Given the description of an element on the screen output the (x, y) to click on. 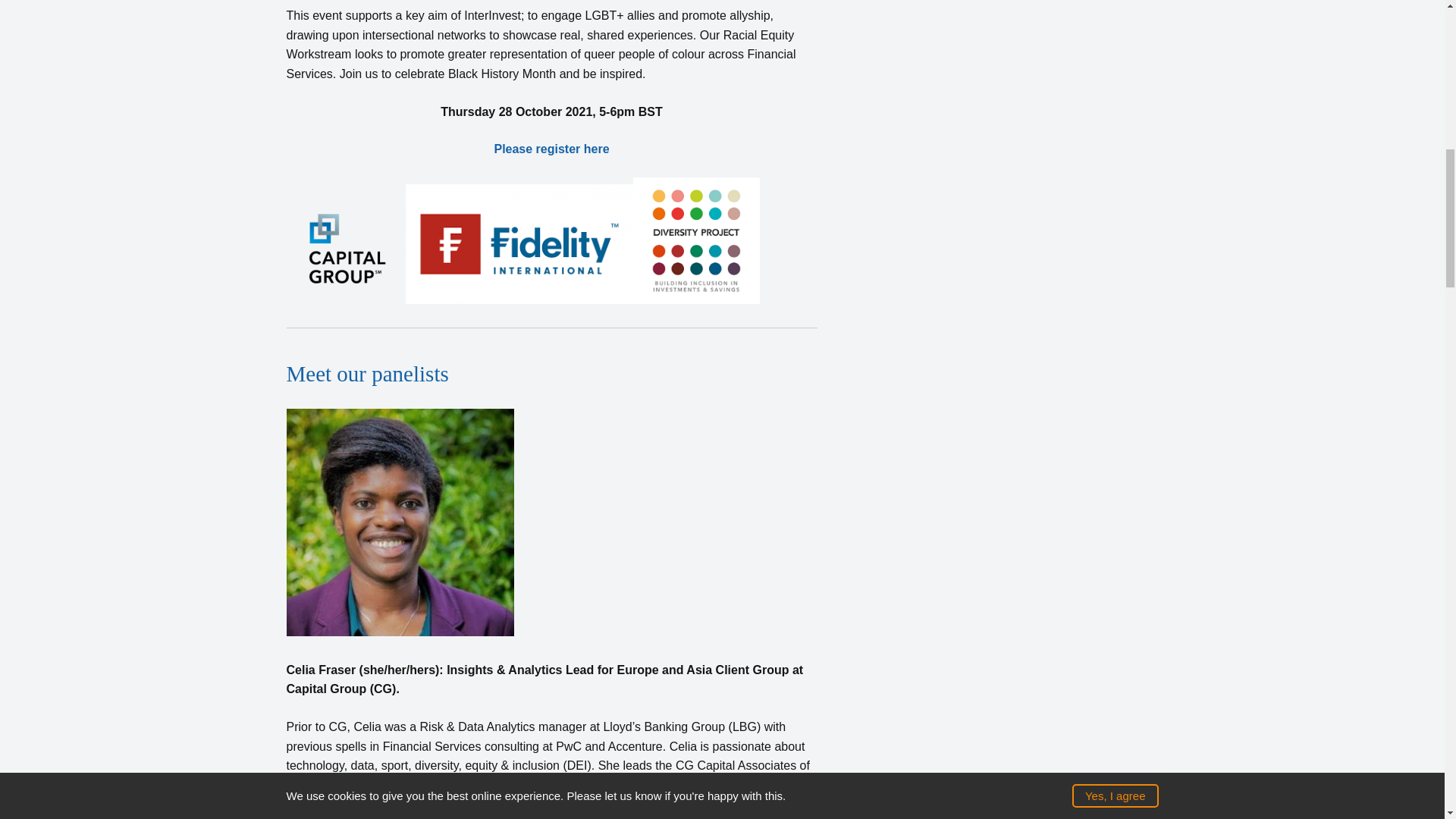
Please register here (550, 148)
Yes, I agree (1114, 23)
Yes, I agree (1114, 23)
